Given the description of an element on the screen output the (x, y) to click on. 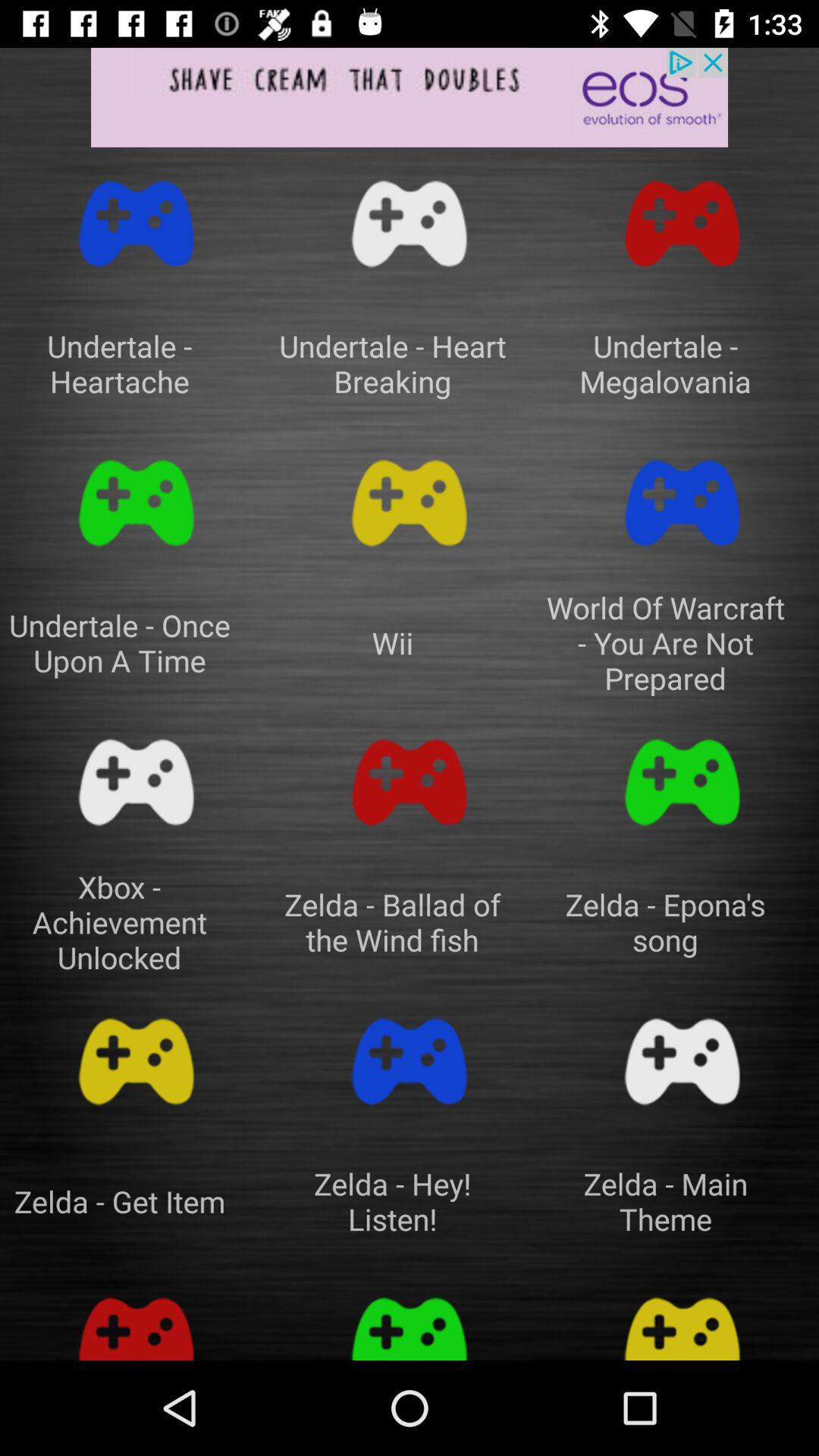
click zelda -main theme (682, 1061)
